Given the description of an element on the screen output the (x, y) to click on. 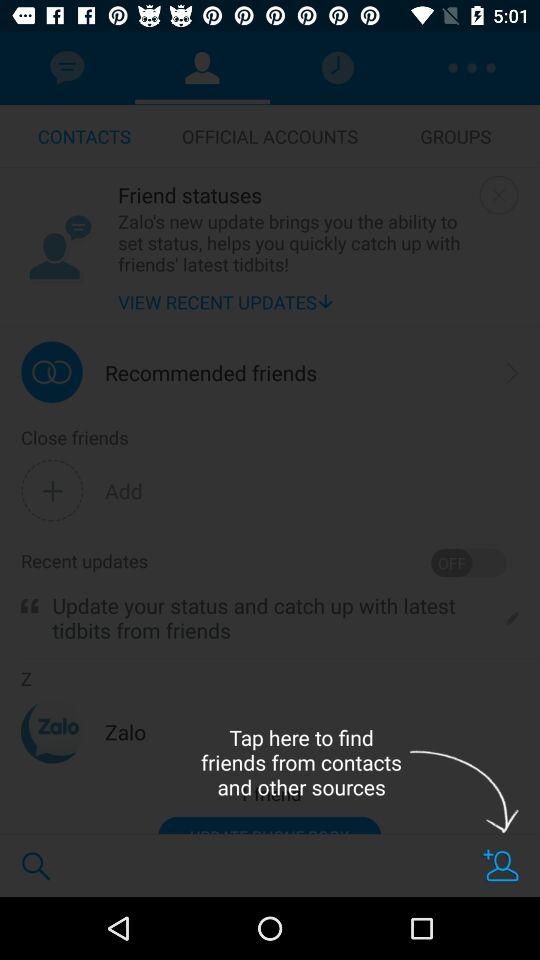
turn on item to the left of the update your status item (29, 606)
